Given the description of an element on the screen output the (x, y) to click on. 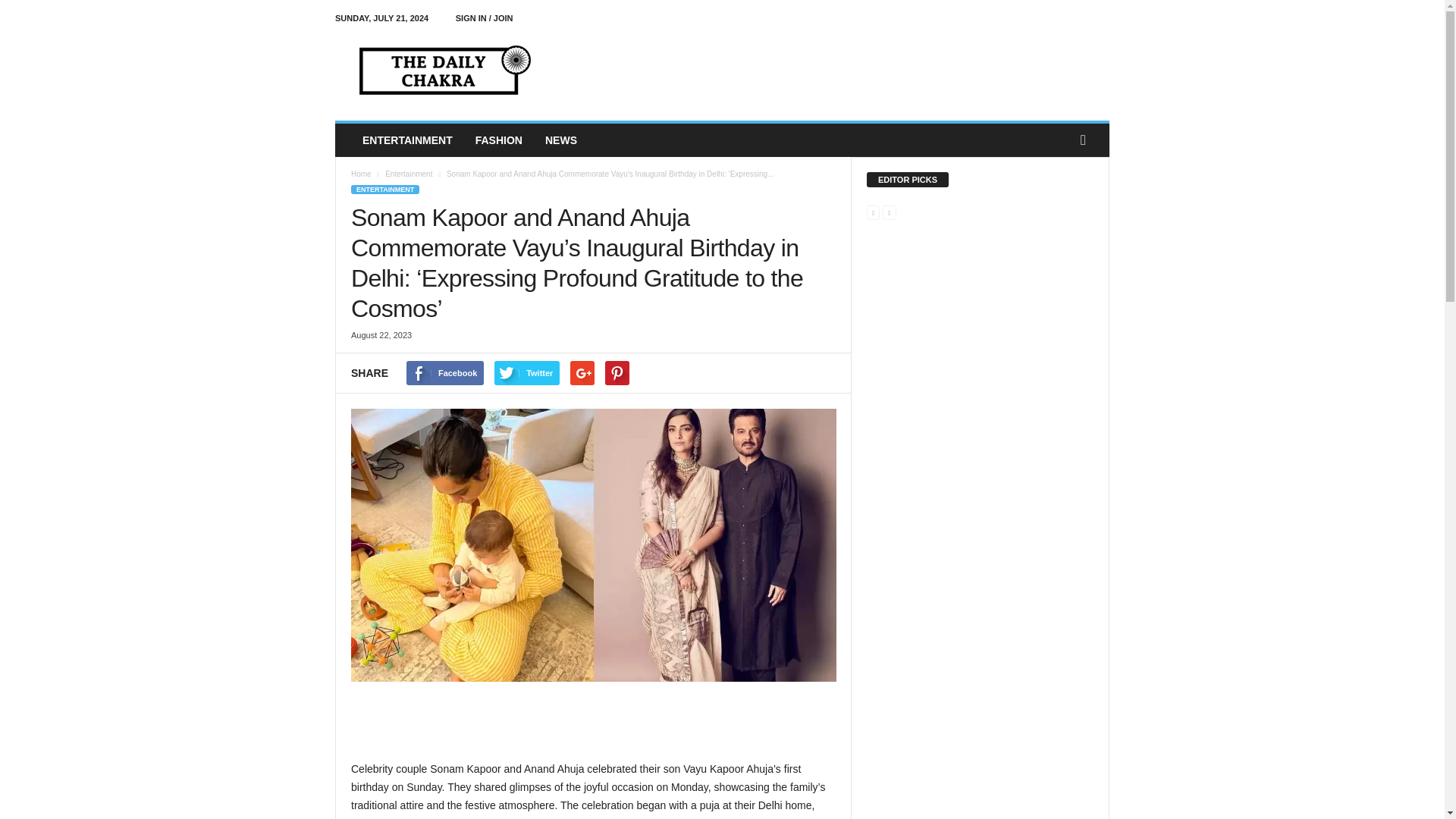
NEWS (561, 140)
The Daily Chakra (437, 70)
Entertainment (408, 173)
Advertisement (593, 719)
102836802 (592, 544)
View all posts in Entertainment (408, 173)
FASHION (499, 140)
Twitter (527, 372)
ENTERTAINMENT (384, 189)
Home (360, 173)
Facebook (444, 372)
ENTERTAINMENT (407, 140)
